Given the description of an element on the screen output the (x, y) to click on. 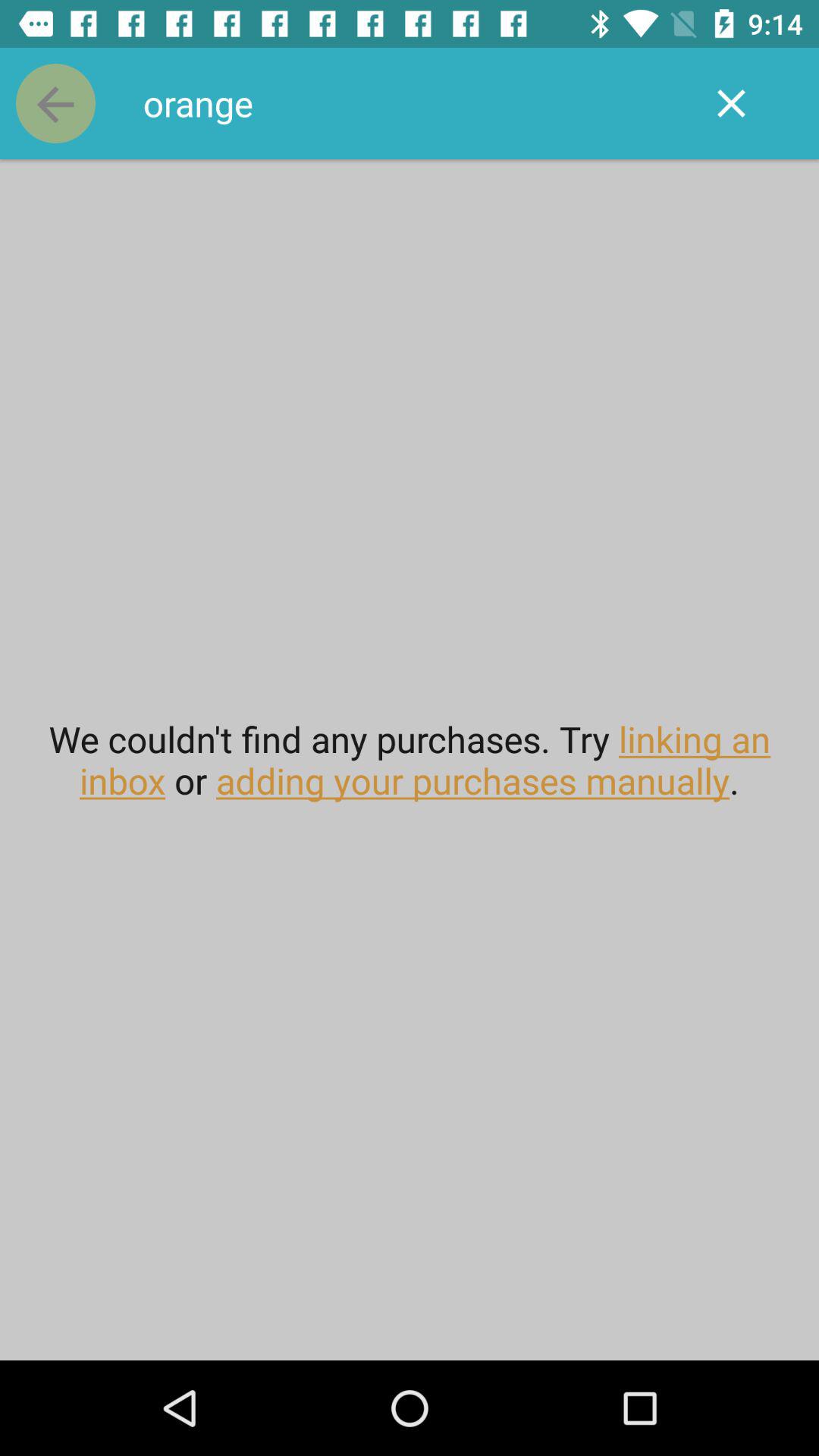
turn off the icon above the we couldn t (731, 103)
